Given the description of an element on the screen output the (x, y) to click on. 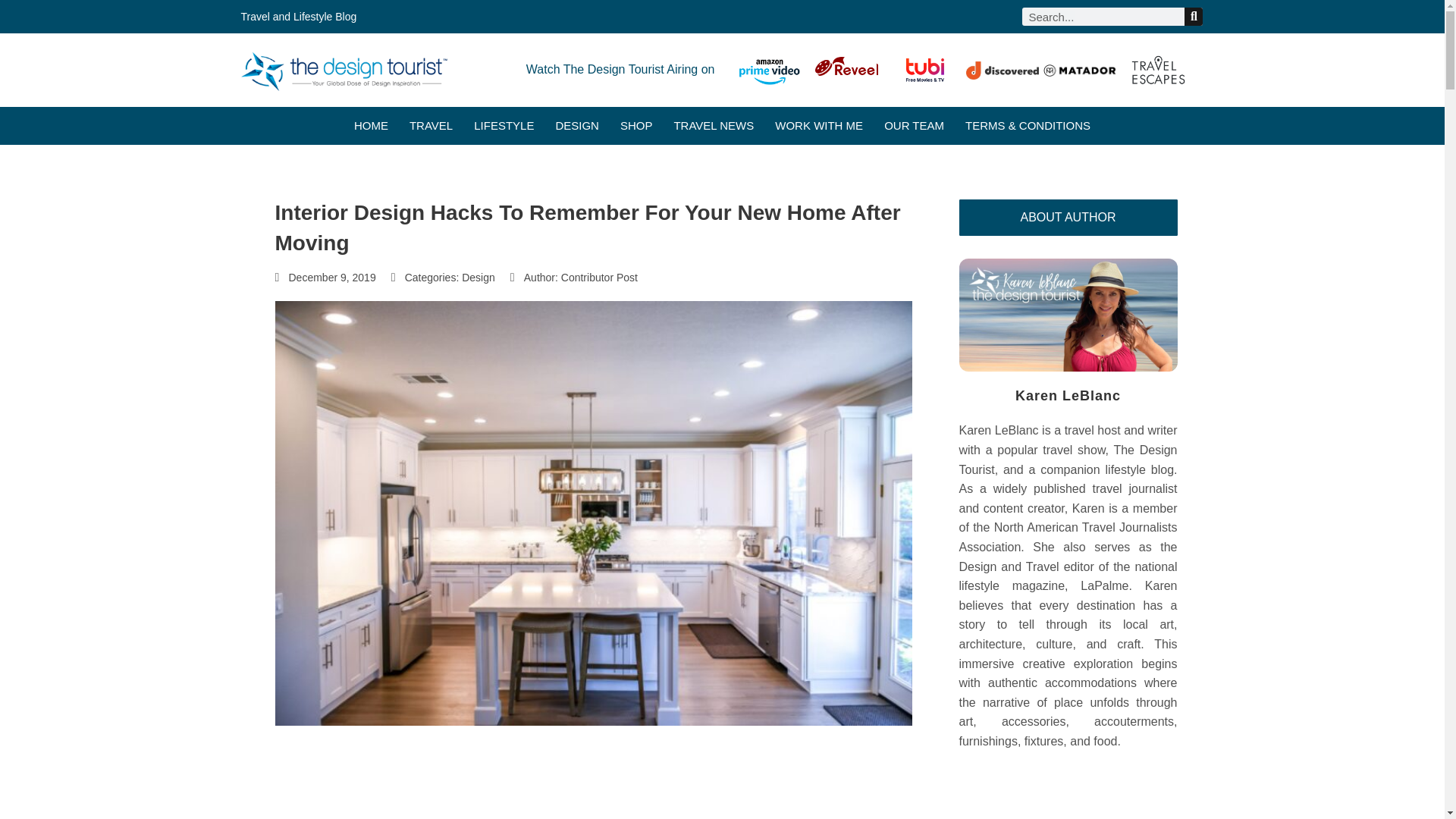
WORK WITH ME (818, 125)
SHOP (636, 125)
HOME (370, 125)
TRAVEL NEWS (713, 125)
OUR TEAM (913, 125)
TRAVEL (430, 125)
DESIGN (576, 125)
Advertisement (593, 795)
LIFESTYLE (504, 125)
